Given the description of an element on the screen output the (x, y) to click on. 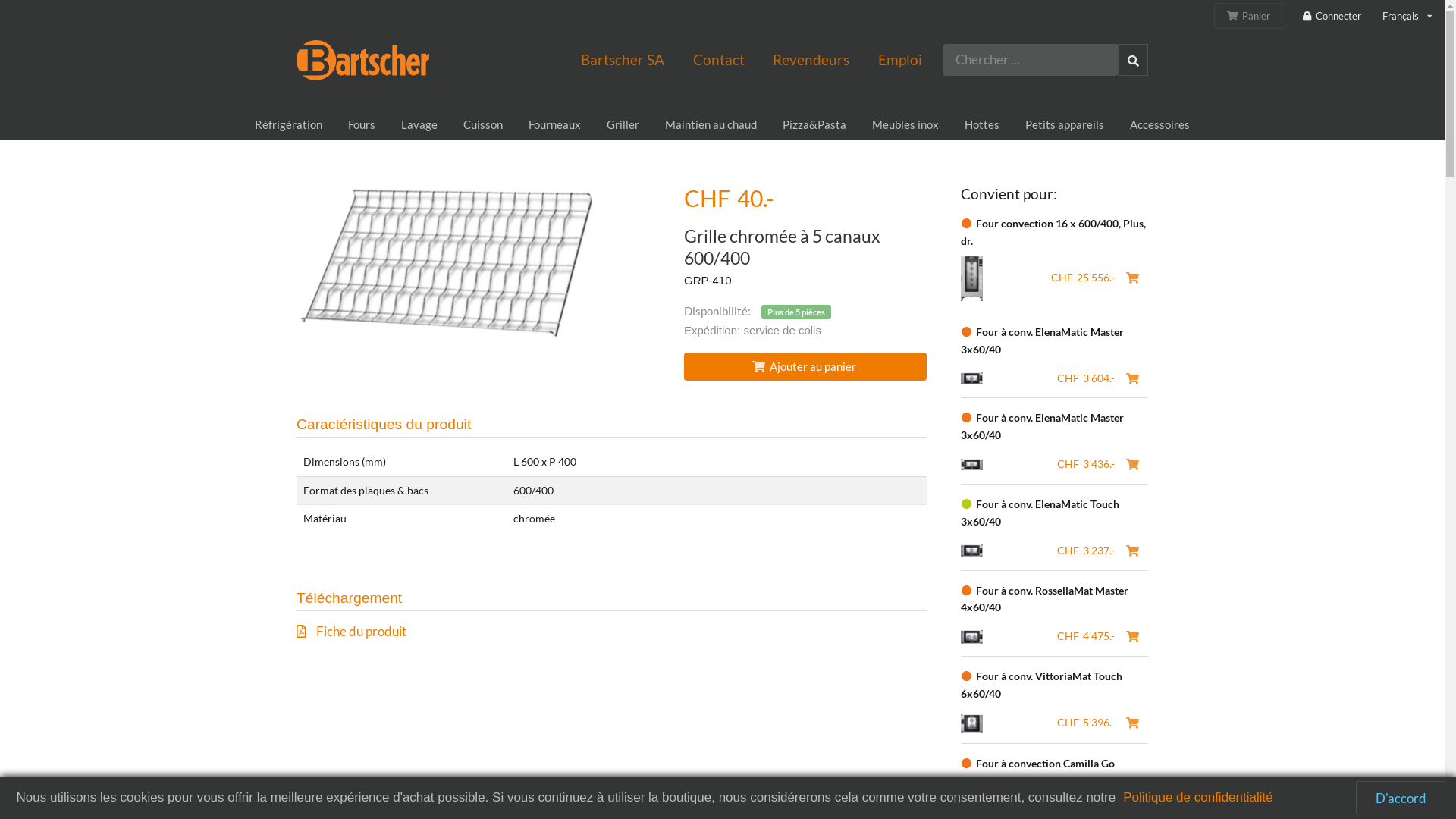
Bartscher SA Element type: text (622, 59)
Contact Element type: text (718, 59)
Panier Element type: text (1249, 15)
Fours Element type: text (361, 125)
Four convection 16 x 600/400, Plus, dr. Element type: text (1052, 232)
Pizza&Pasta Element type: text (814, 125)
Meubles inox Element type: text (905, 125)
Cuisson Element type: text (482, 125)
Fiche du produit Element type: text (611, 631)
Griller Element type: text (622, 125)
Revendeurs Element type: text (810, 59)
Connecter Element type: text (1331, 15)
D'accord Element type: text (1400, 797)
Lavage Element type: text (419, 125)
Fourneaux Element type: text (554, 125)
Emploi Element type: text (899, 59)
Petits appareils Element type: text (1064, 125)
Ajouter au panier Element type: text (805, 366)
Accessoires Element type: text (1159, 125)
Hottes Element type: text (981, 125)
Maintien au chaud Element type: text (710, 125)
